Given the description of an element on the screen output the (x, y) to click on. 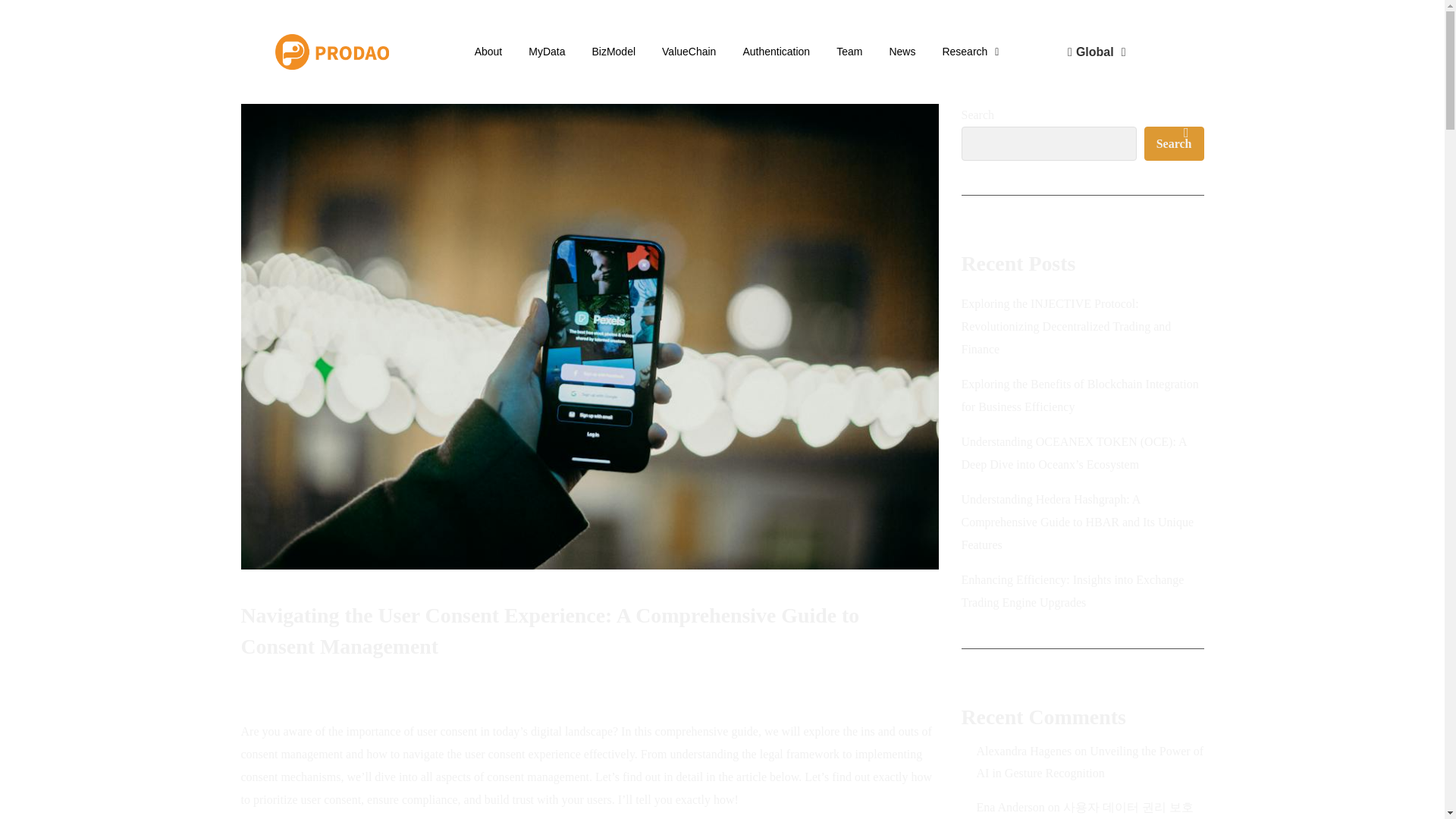
Research (970, 51)
MyData (546, 51)
Authentication (775, 51)
ValueChain (689, 51)
BizModel (612, 51)
